Given the description of an element on the screen output the (x, y) to click on. 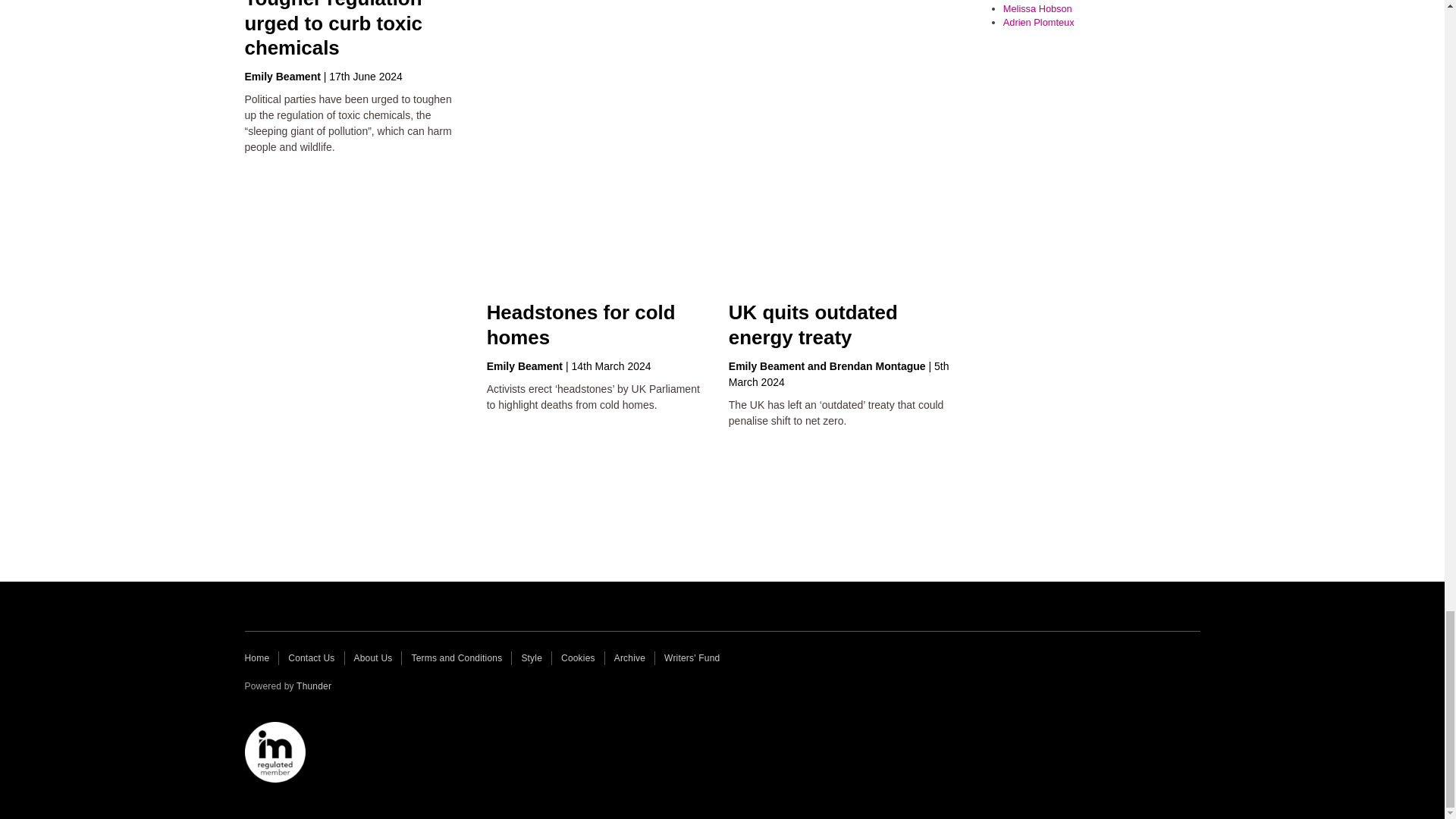
Tuesday, March 5, 2024 - 07:00 (839, 374)
Thursday, March 14, 2024 - 06:59 (610, 366)
Monday, June 17, 2024 - 07:00 (366, 76)
